Given the description of an element on the screen output the (x, y) to click on. 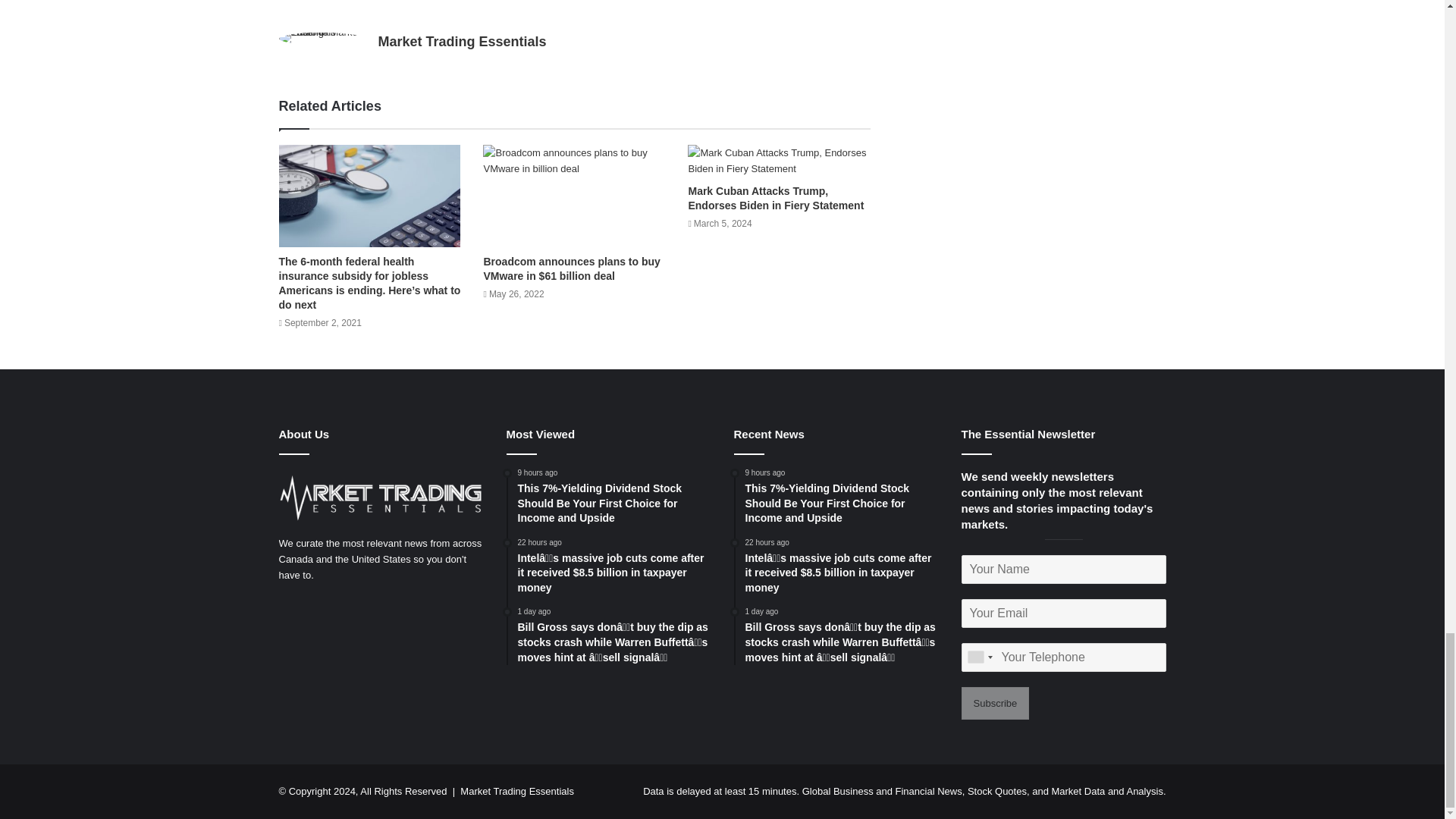
Mark Cuban Attacks Trump, Endorses Biden in Fiery Statement (778, 160)
Market Trading Essentials (461, 41)
Broadcom announces plans to buy VMware in  billion deal (574, 195)
